Given the description of an element on the screen output the (x, y) to click on. 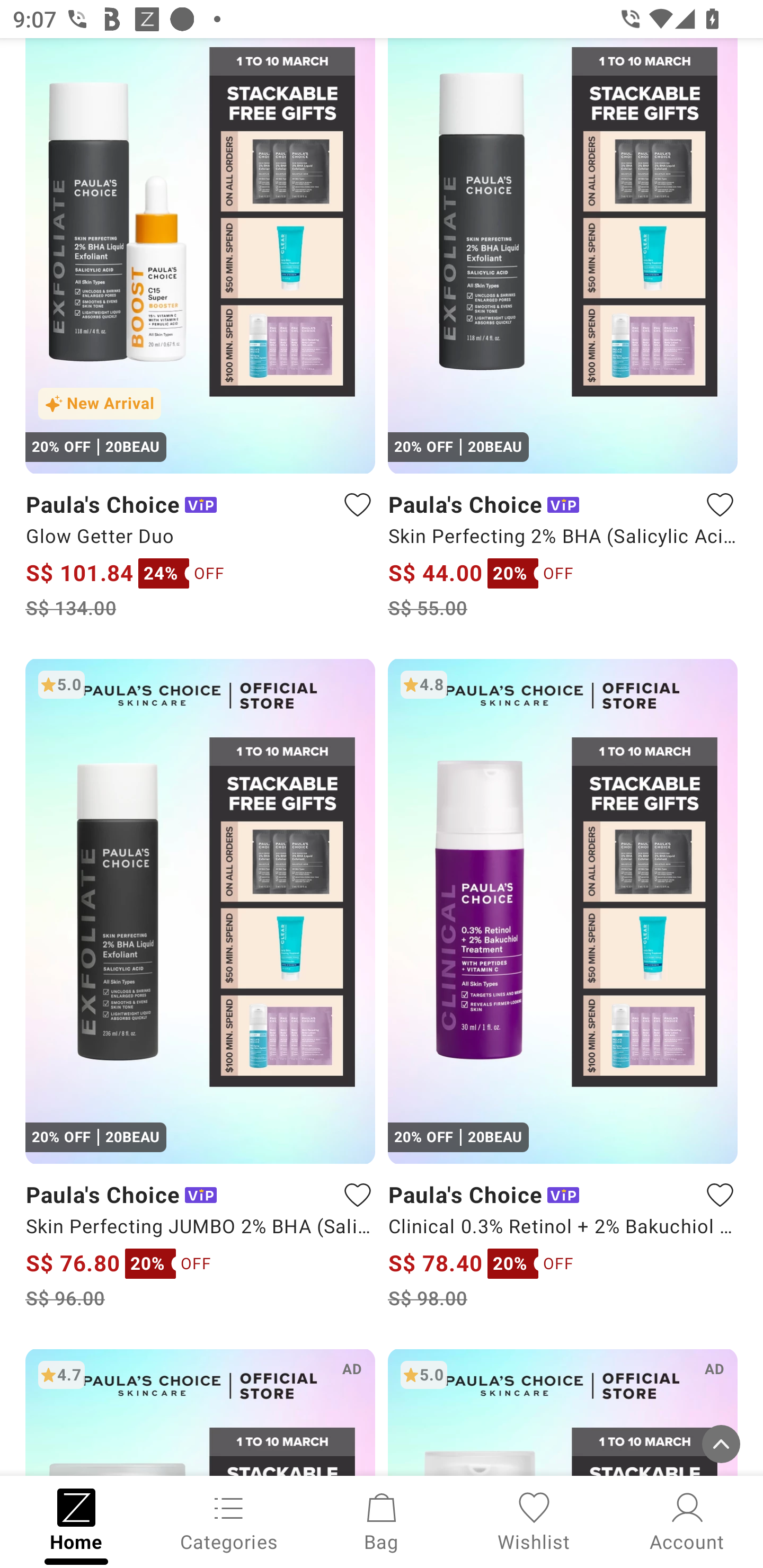
Categories (228, 1519)
Bag (381, 1519)
Wishlist (533, 1519)
Account (686, 1519)
